Given the description of an element on the screen output the (x, y) to click on. 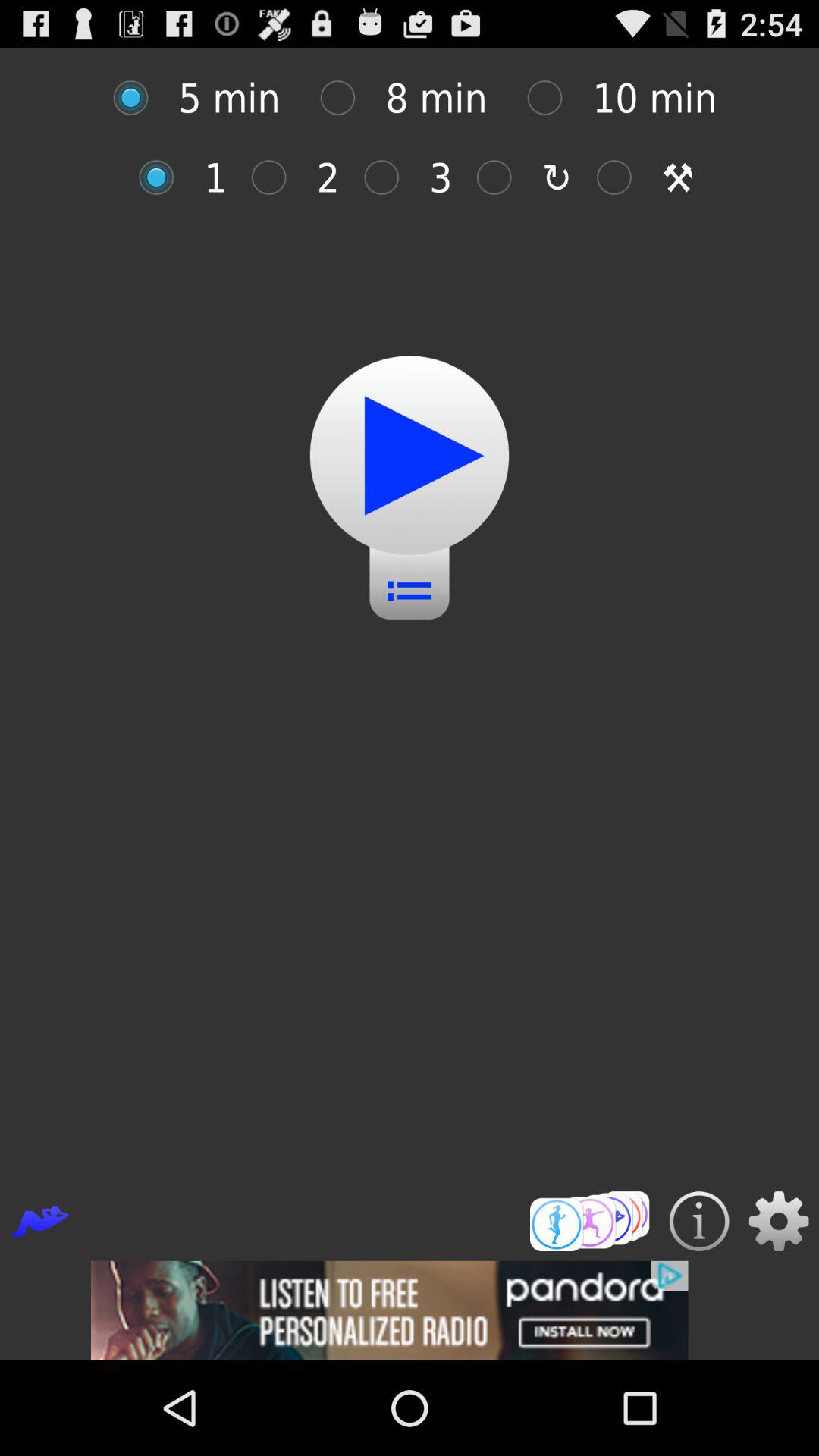
advertisement (409, 1310)
